Given the description of an element on the screen output the (x, y) to click on. 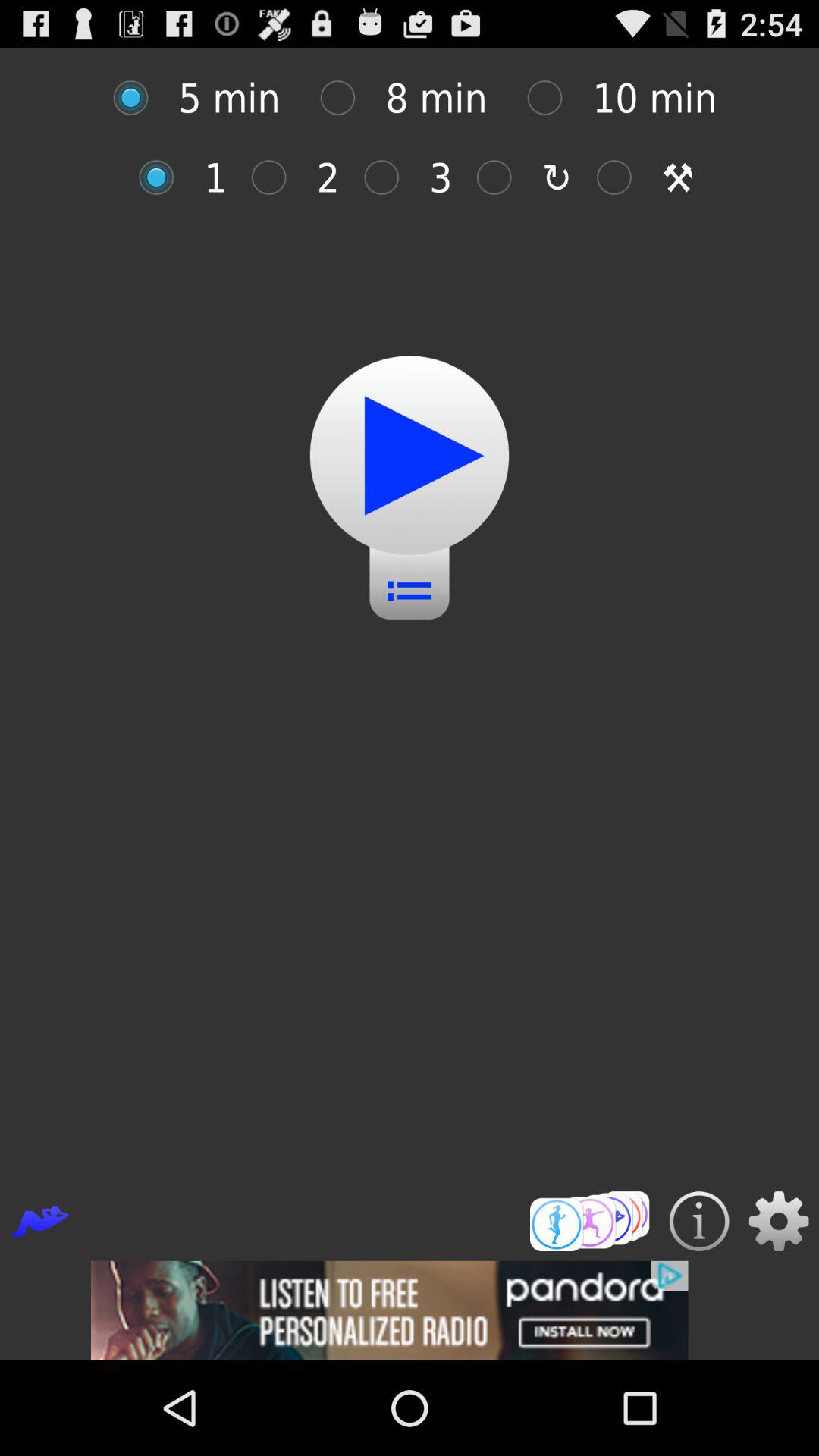
advertisement (409, 1310)
